Given the description of an element on the screen output the (x, y) to click on. 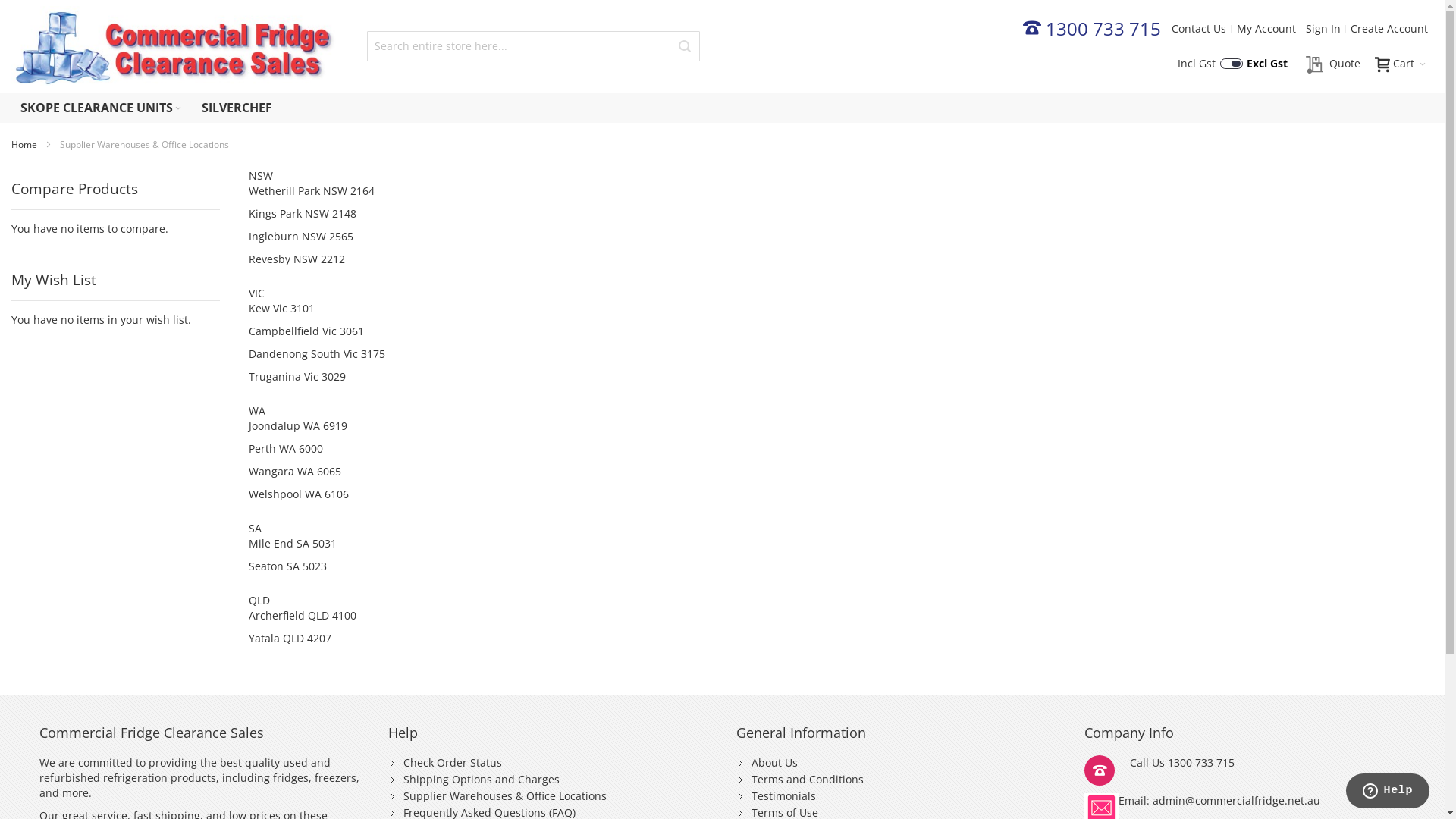
Incl Gst Element type: text (1209, 63)
Quote Element type: text (1332, 64)
Excl Gst Element type: text (1266, 63)
Commercial Fridge Clearance Sales Element type: hover (174, 46)
admin@commercialfridge.net.au Element type: text (1236, 800)
Contact Us Element type: text (1198, 28)
Create Account Element type: text (1389, 28)
Opens a widget where you can chat to one of our agents Element type: hover (1387, 792)
1300 733 715 Element type: text (1091, 30)
Testimonials Element type: text (783, 795)
Call Us 1300 733 715 Element type: text (1244, 770)
Check Order Status Element type: text (452, 762)
Supplier Warehouses & Office Locations Element type: text (504, 795)
SKOPE CLEARANCE UNITS Element type: text (101, 107)
Search Element type: hover (684, 45)
Shipping Options and Charges Element type: text (481, 778)
Sign In Element type: text (1323, 28)
My Account Element type: text (1266, 28)
Terms and Conditions Element type: text (807, 778)
SILVERCHEF Element type: text (236, 107)
About Us Element type: text (774, 762)
Home Element type: text (25, 144)
